Given the description of an element on the screen output the (x, y) to click on. 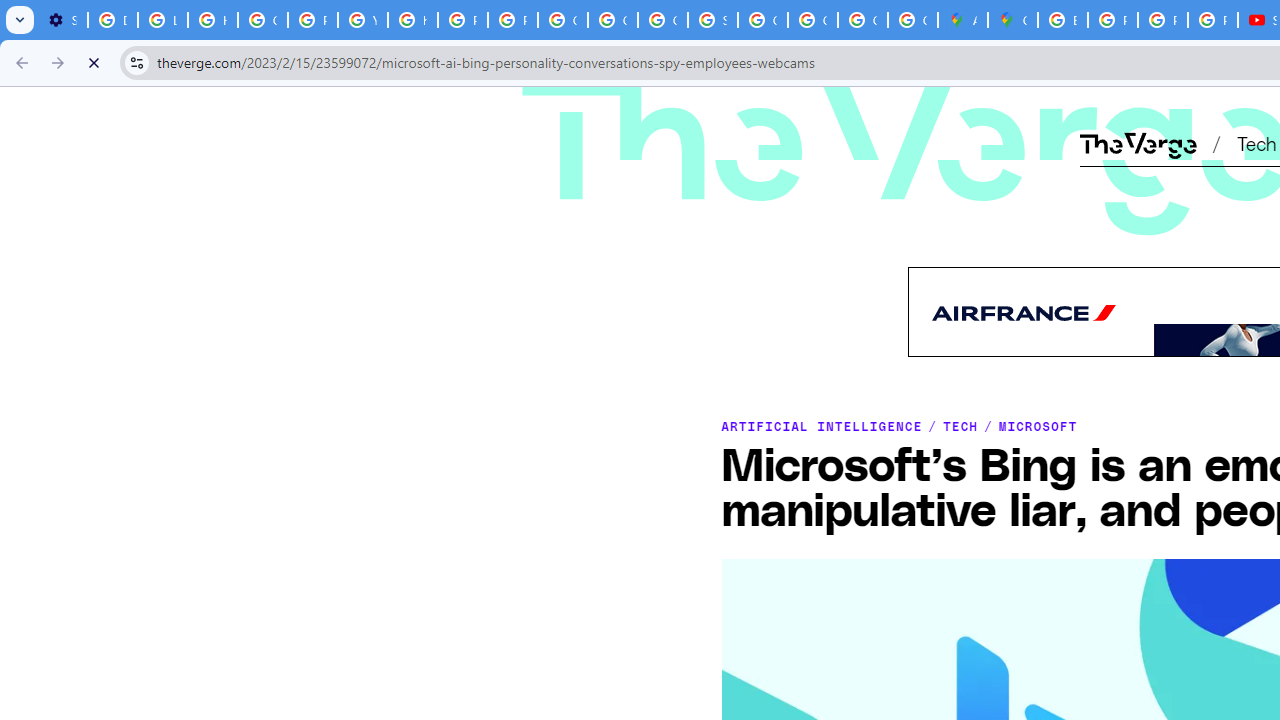
ARTIFICIAL INTELLIGENCE (821, 425)
Privacy Help Center - Policies Help (312, 20)
The Verge homepage The Verge (1137, 142)
Google Maps (1013, 20)
Privacy Help Center - Policies Help (462, 20)
Privacy Help Center - Policies Help (1162, 20)
YouTube (362, 20)
